Given the description of an element on the screen output the (x, y) to click on. 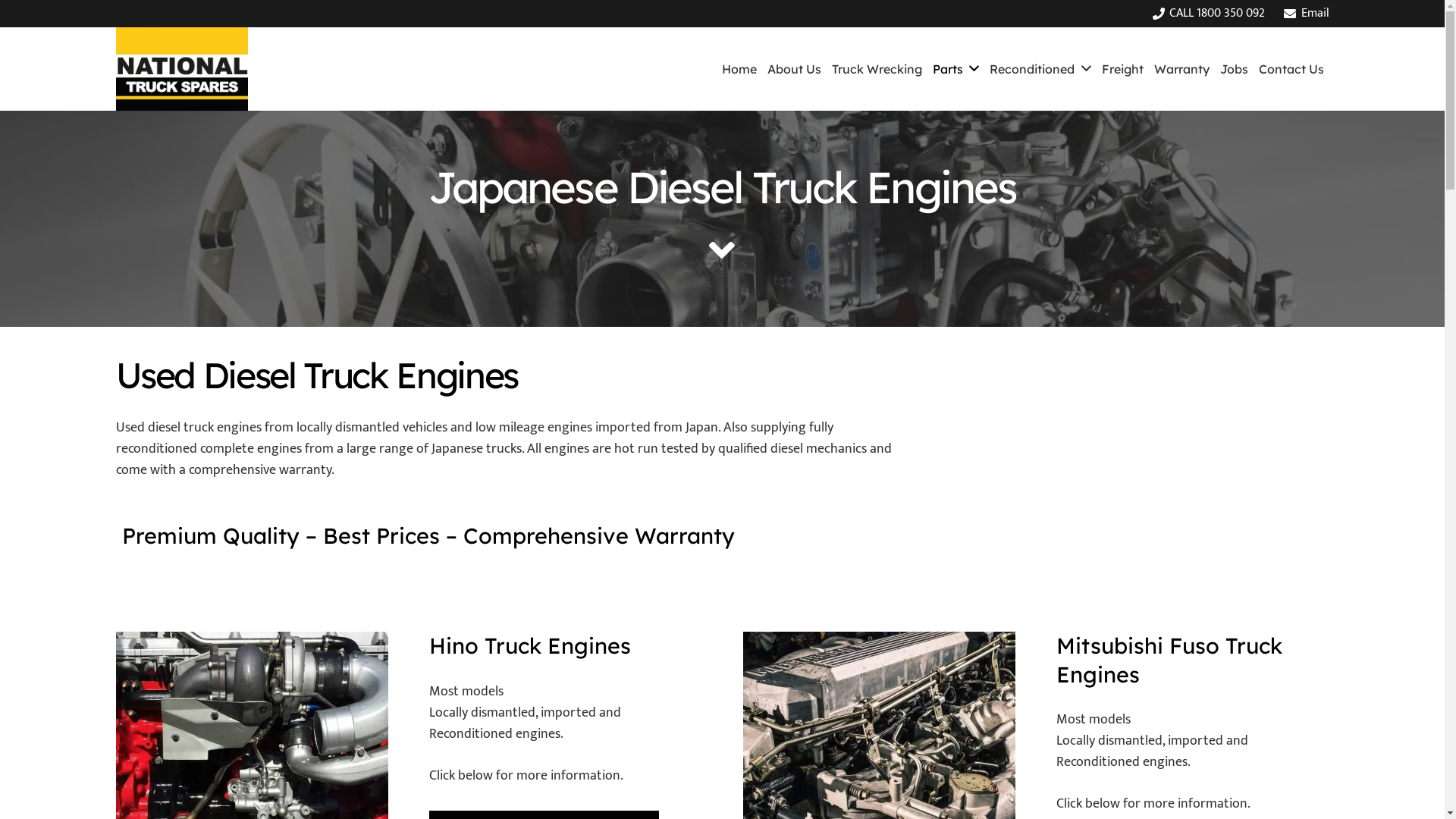
EMAIL Element type: text (303, 625)
Web Design Element type: text (1086, 780)
Contact Us Element type: text (1140, 615)
Email Element type: text (1305, 13)
Warranty Element type: text (1181, 68)
Fastdot Element type: text (1202, 780)
Parts Element type: text (955, 68)
Truck Wrecking Element type: text (876, 68)
Reconditioned Element type: text (1039, 68)
Home Element type: text (739, 68)
Hosting Element type: text (1152, 780)
Jobs Element type: text (1233, 68)
Terms and Conditions Element type: text (1140, 759)
Contact Us Element type: text (1290, 68)
About Us Element type: text (794, 68)
PHONE Element type: text (304, 716)
Freight Element type: text (1122, 68)
CALL 1800 350 092 Element type: text (1208, 13)
